Given the description of an element on the screen output the (x, y) to click on. 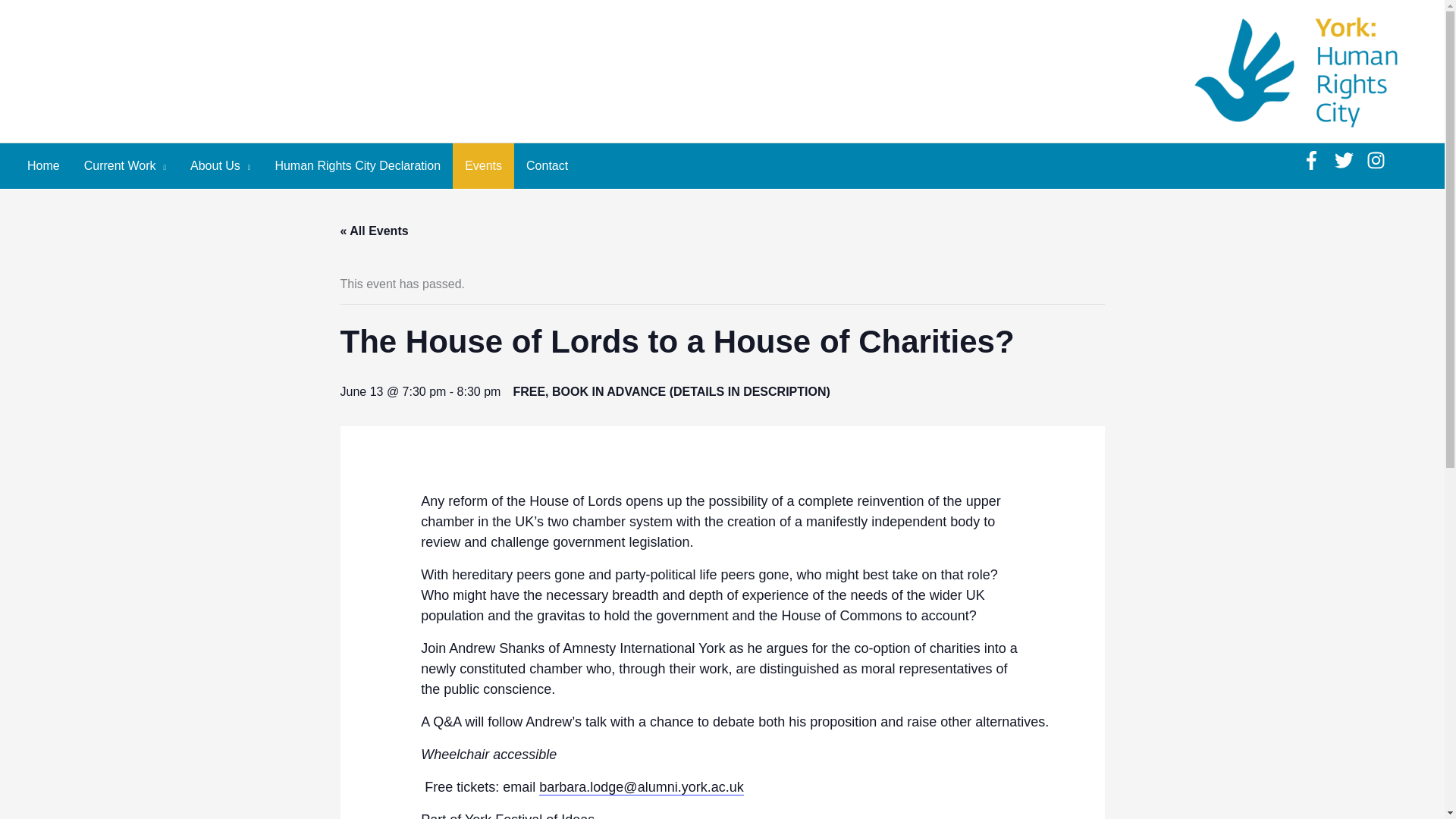
Home (42, 166)
Human Rights City Declaration (357, 166)
Contact (546, 166)
About Us (219, 166)
Events (482, 166)
Current Work (124, 166)
